Given the description of an element on the screen output the (x, y) to click on. 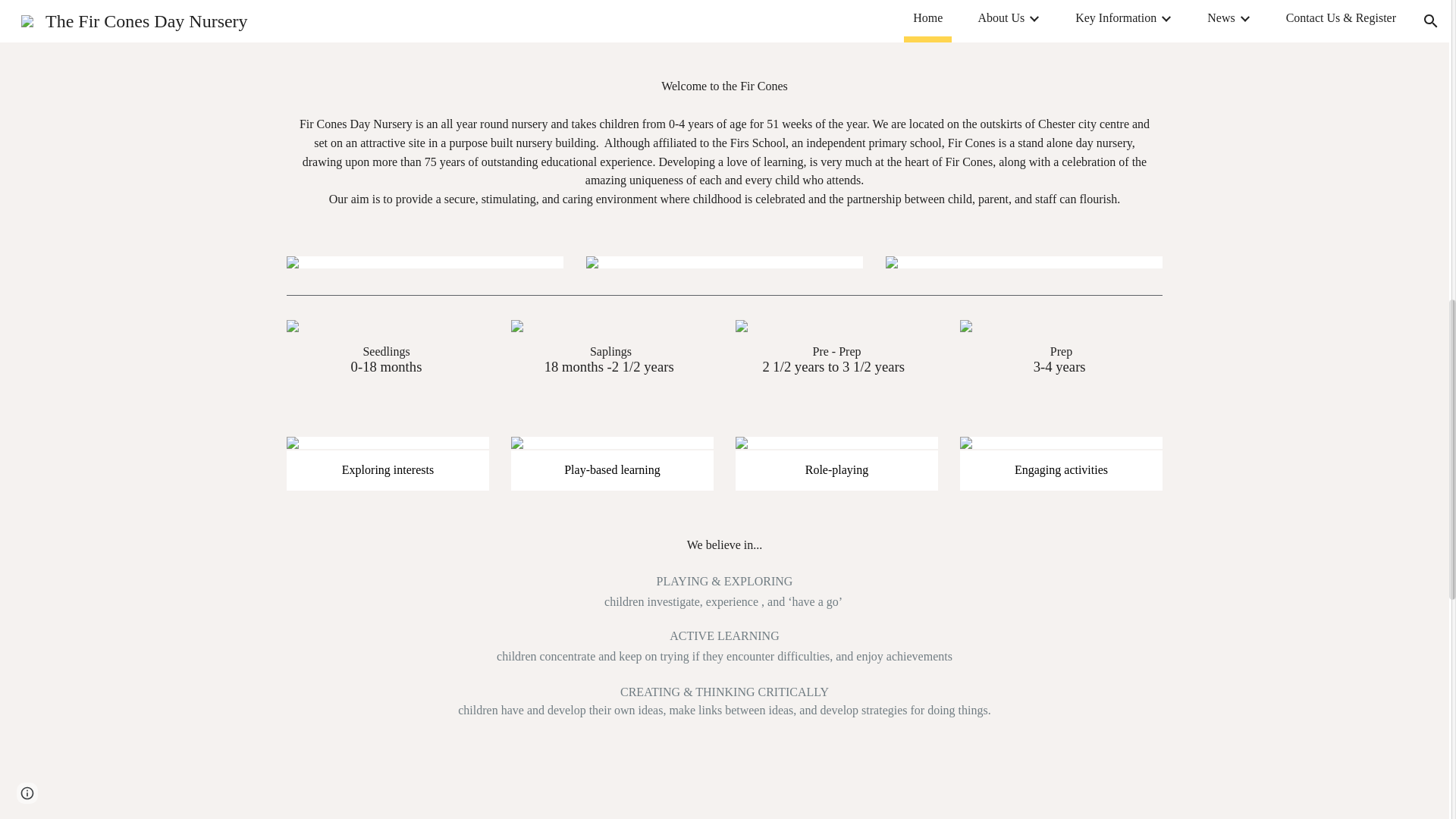
Custom embed (723, 799)
